Given the description of an element on the screen output the (x, y) to click on. 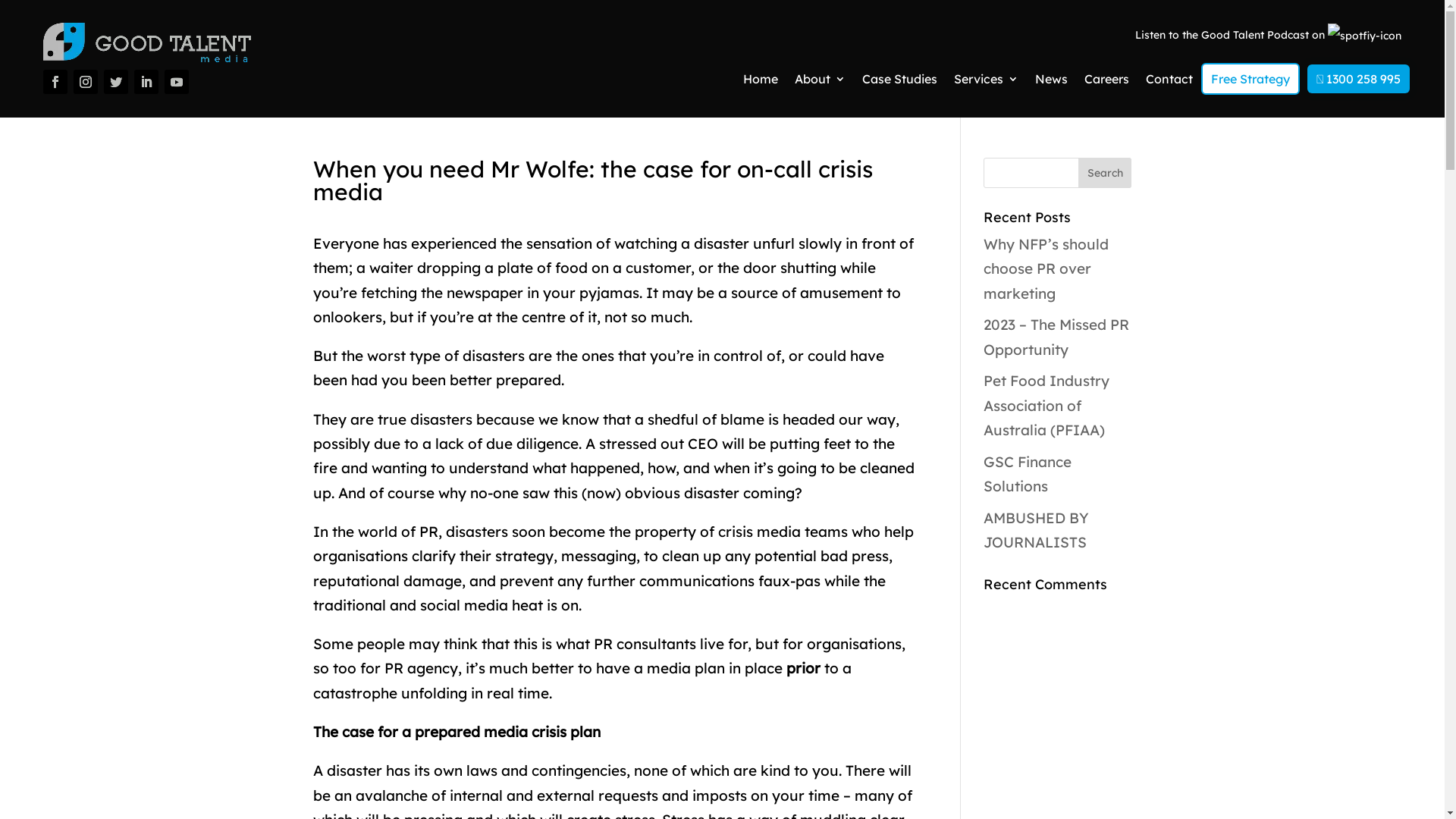
Case Studies Element type: text (899, 81)
Contact Element type: text (1168, 81)
AMBUSHED BY JOURNALISTS Element type: text (1035, 529)
Search Element type: text (1104, 172)
Careers Element type: text (1106, 81)
Pet Food Industry Association of Australia (PFIAA) Element type: text (1046, 405)
Free Strategy Element type: text (1250, 78)
Services Element type: text (985, 81)
News Element type: text (1051, 81)
Follow on Youtube Element type: hover (176, 81)
GSC Finance Solutions Element type: text (1027, 473)
Follow on LinkedIn Element type: hover (146, 81)
Follow on Instagram Element type: hover (85, 81)
Follow on Twitter Element type: hover (115, 81)
About Element type: text (819, 81)
Home Element type: text (760, 81)
Follow on Facebook Element type: hover (55, 81)
Good Talent Media - RGB - Full Logo Element type: hover (147, 42)
